Given the description of an element on the screen output the (x, y) to click on. 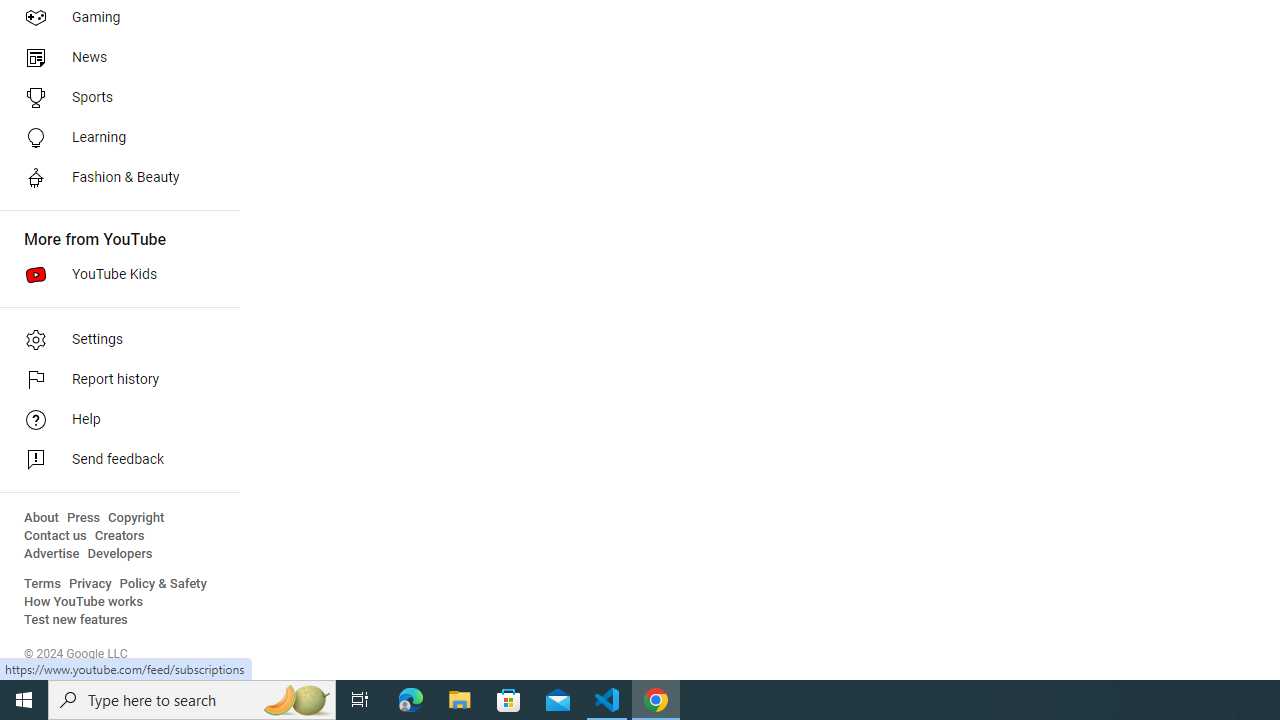
Advertise (51, 554)
Send feedback (113, 459)
Copyright (136, 518)
Press (83, 518)
About (41, 518)
Contact us (55, 536)
